Given the description of an element on the screen output the (x, y) to click on. 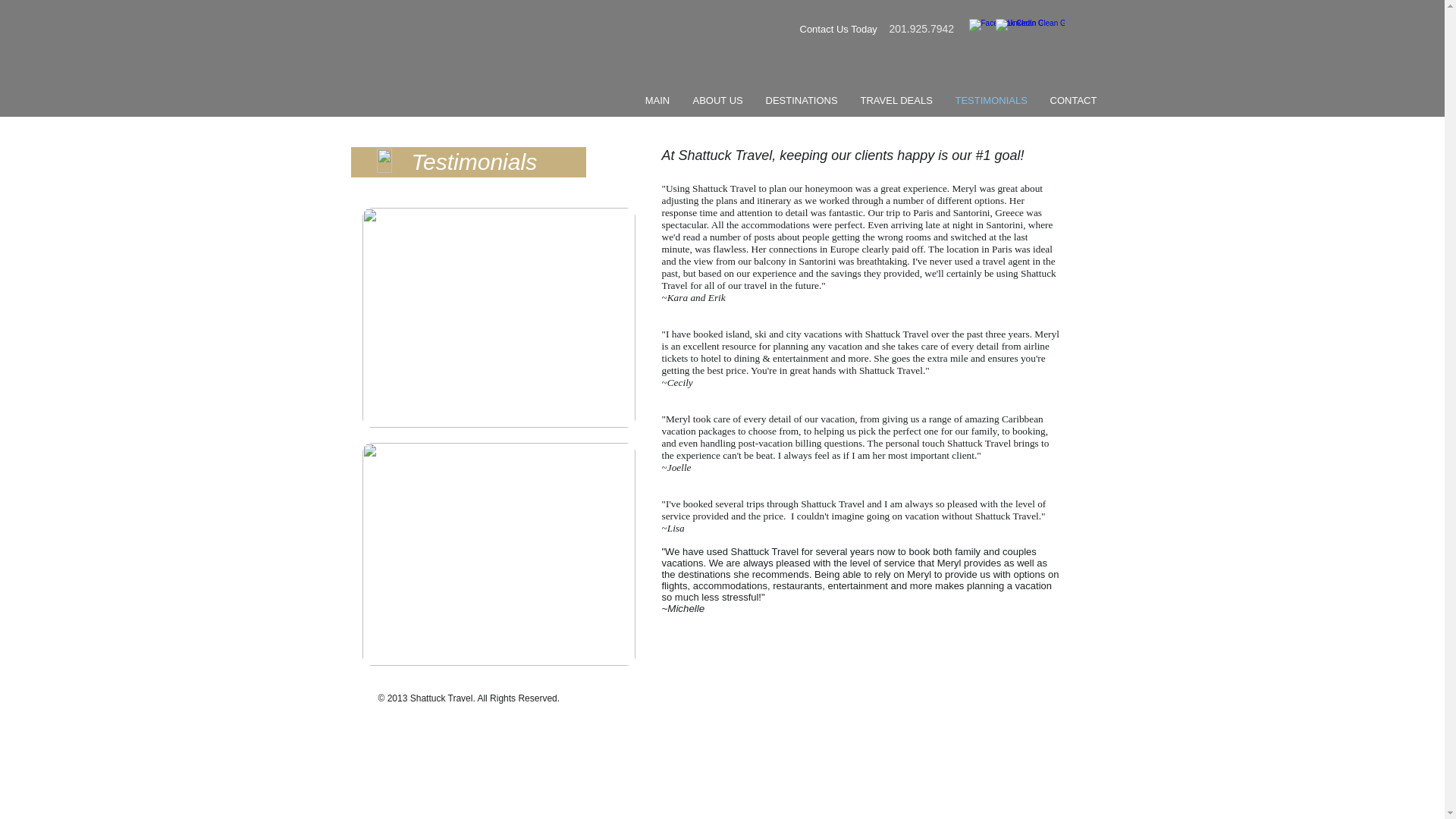
DESTINATIONS (801, 100)
TESTIMONIALS (990, 100)
CONTACT (1073, 100)
MAIN (657, 100)
TRAVEL DEALS (895, 100)
ABOUT US (717, 100)
